Given the description of an element on the screen output the (x, y) to click on. 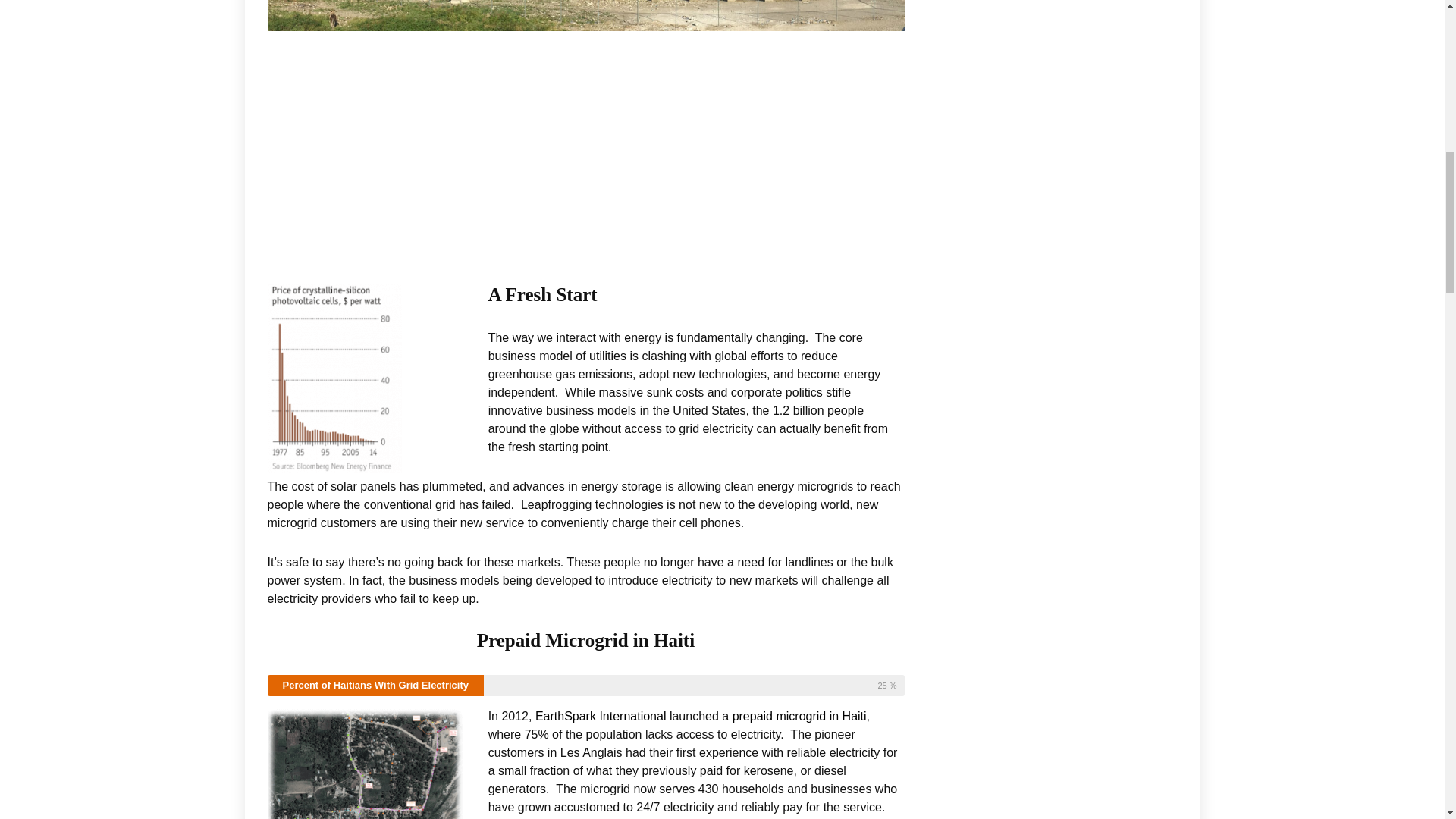
EarthSpark International (600, 716)
prepaid microgrid in Haiti (799, 716)
